Given the description of an element on the screen output the (x, y) to click on. 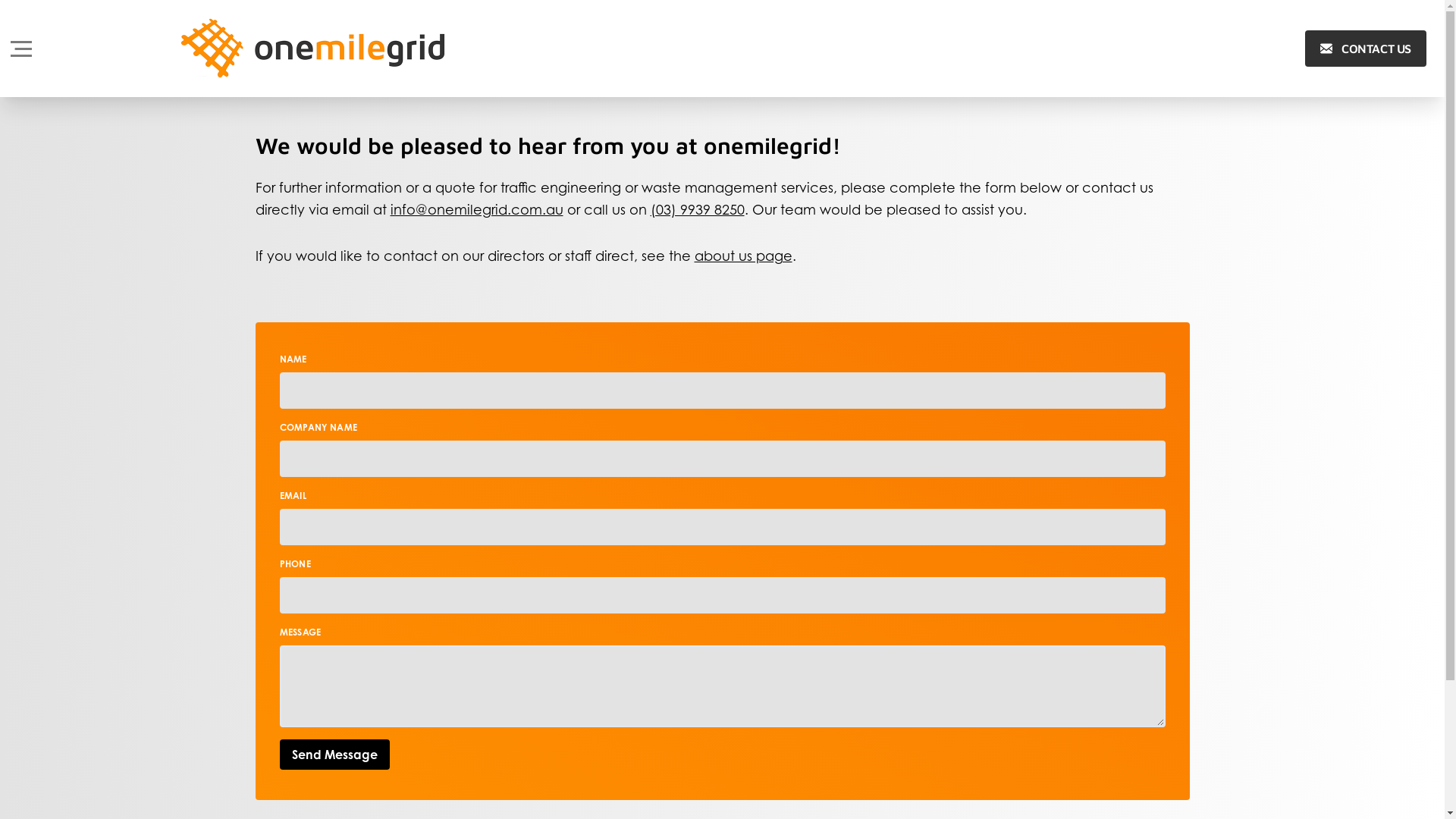
Menu Element type: hover (21, 48)
info@onemilegrid.com.au Element type: text (475, 208)
about us page Element type: text (743, 255)
Send Message Element type: text (334, 753)
CONTACT US Element type: text (1365, 48)
(03) 9939 8250 Element type: text (697, 208)
